Given the description of an element on the screen output the (x, y) to click on. 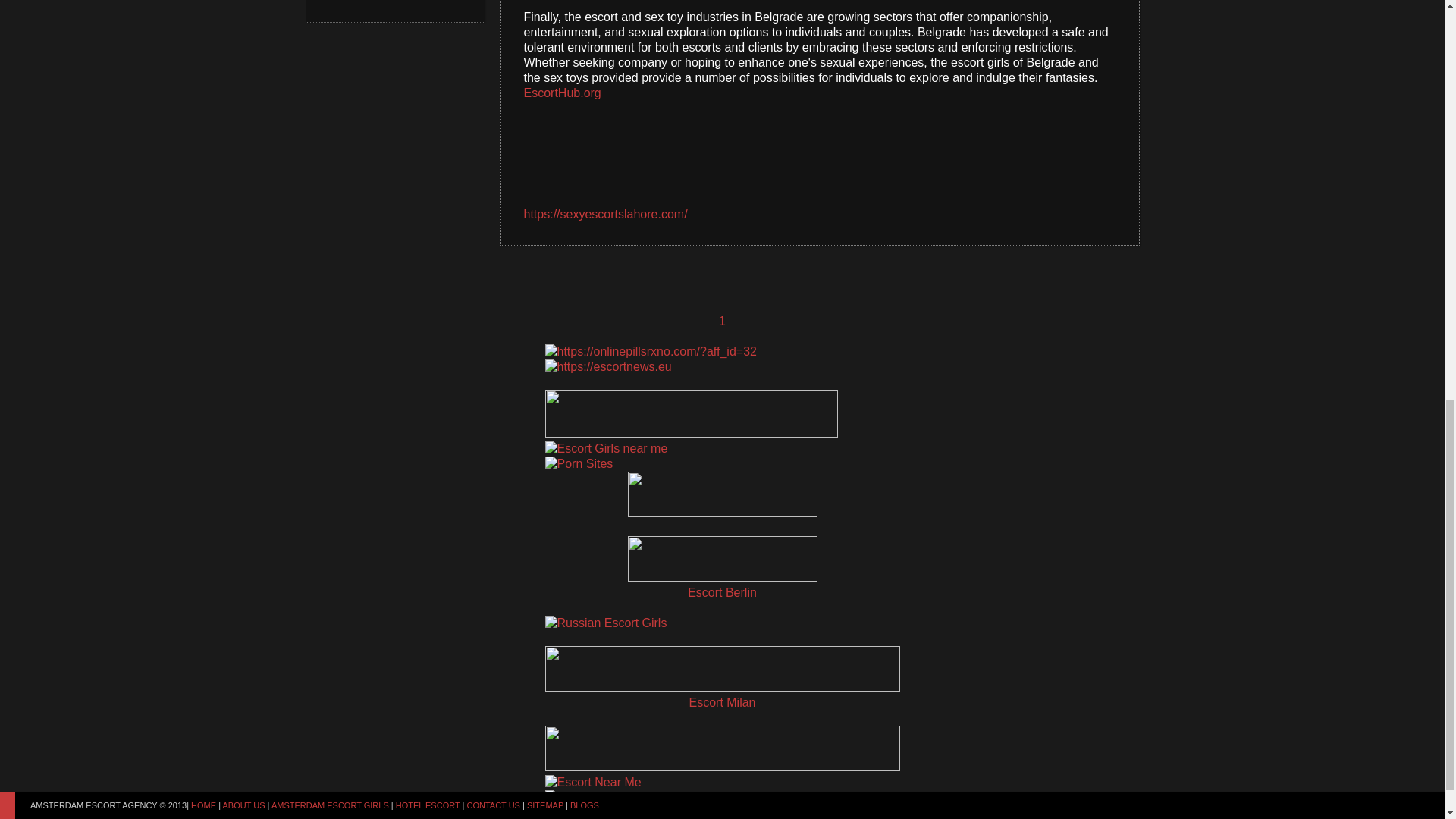
1 (721, 321)
Escort Berlin (721, 592)
EscortHub.org (560, 92)
Escort Milan (721, 702)
